Given the description of an element on the screen output the (x, y) to click on. 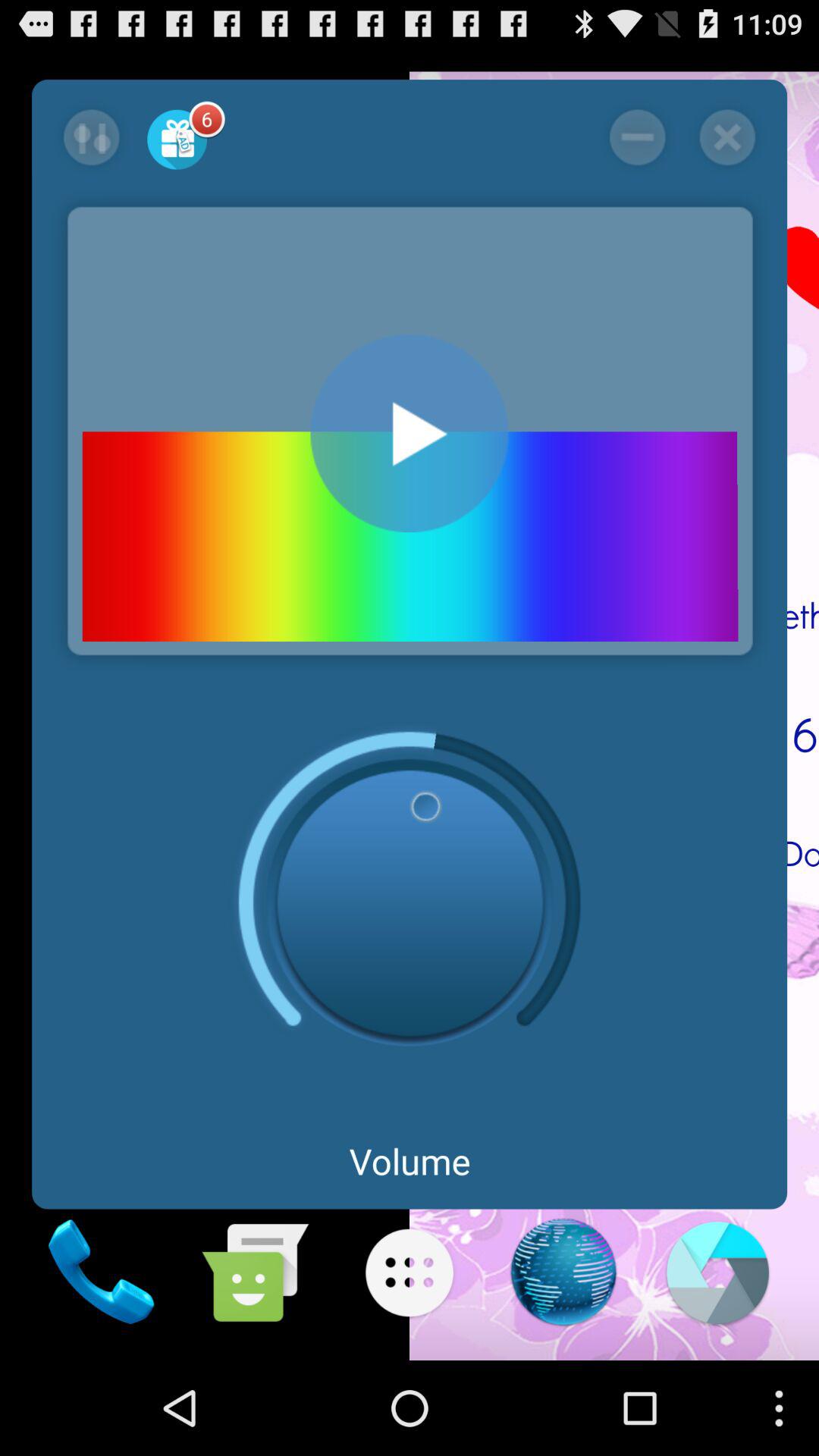
close screen (637, 137)
